Given the description of an element on the screen output the (x, y) to click on. 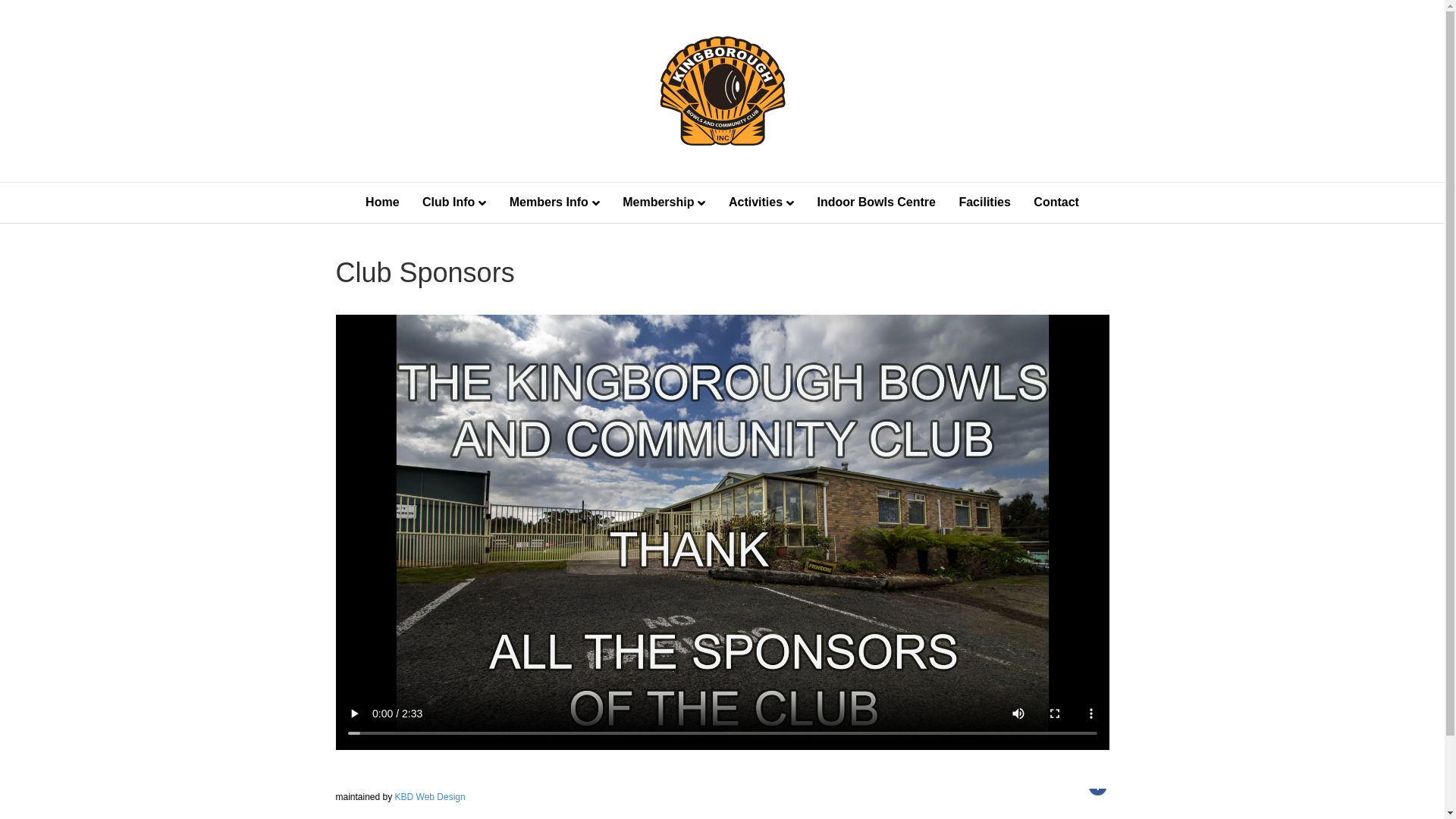
Contact Element type: text (1055, 202)
Facebook Element type: text (1096, 786)
Members Info Element type: text (554, 202)
Club Info Element type: text (453, 202)
Home Element type: text (381, 202)
Membership Element type: text (663, 202)
Indoor Bowls Centre Element type: text (876, 202)
Facilities Element type: text (983, 202)
Activities Element type: text (760, 202)
KBD Web Design Element type: text (430, 796)
